Given the description of an element on the screen output the (x, y) to click on. 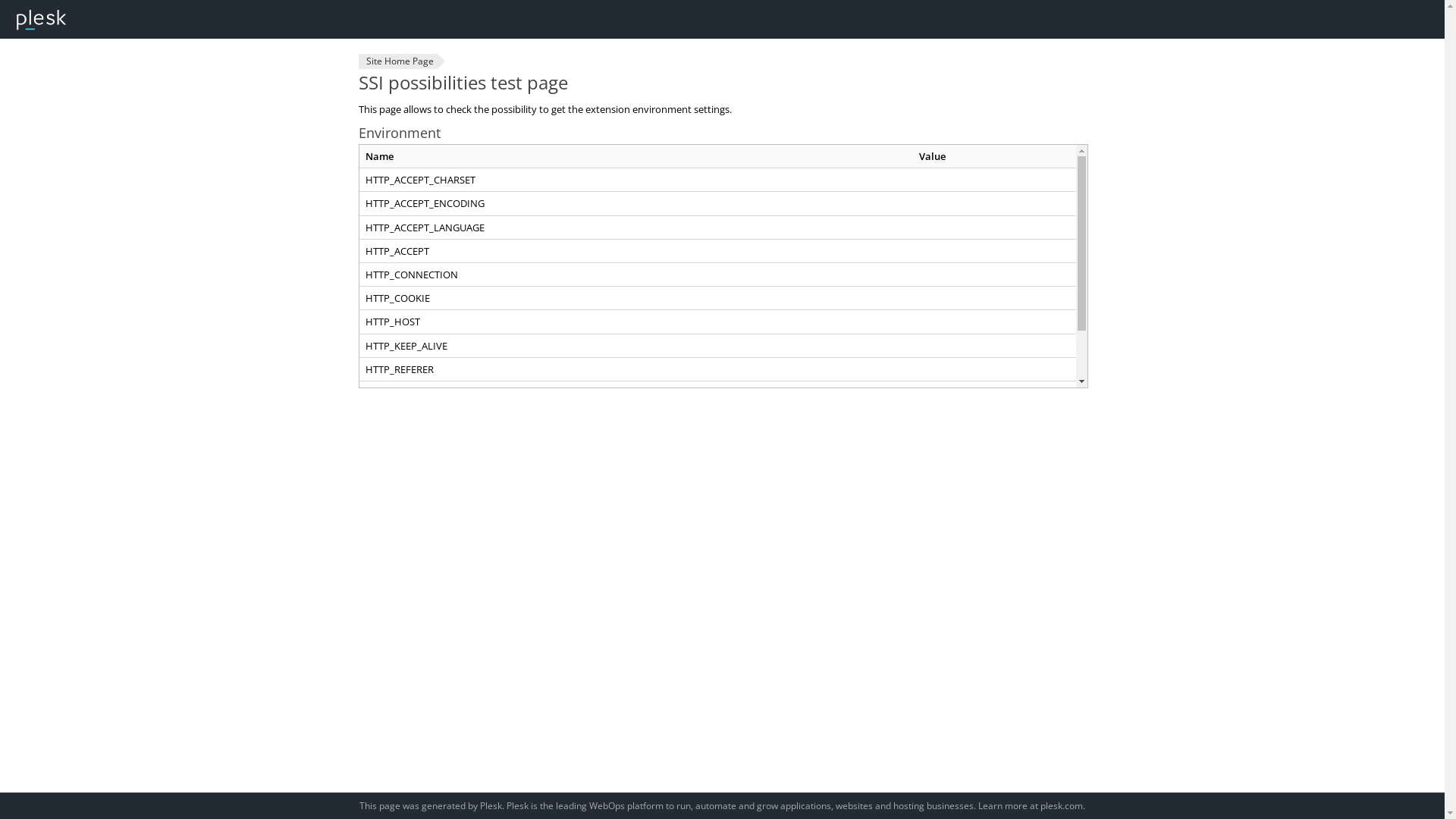
plesk.com Element type: text (1061, 805)
Site Home Page Element type: text (396, 61)
